Given the description of an element on the screen output the (x, y) to click on. 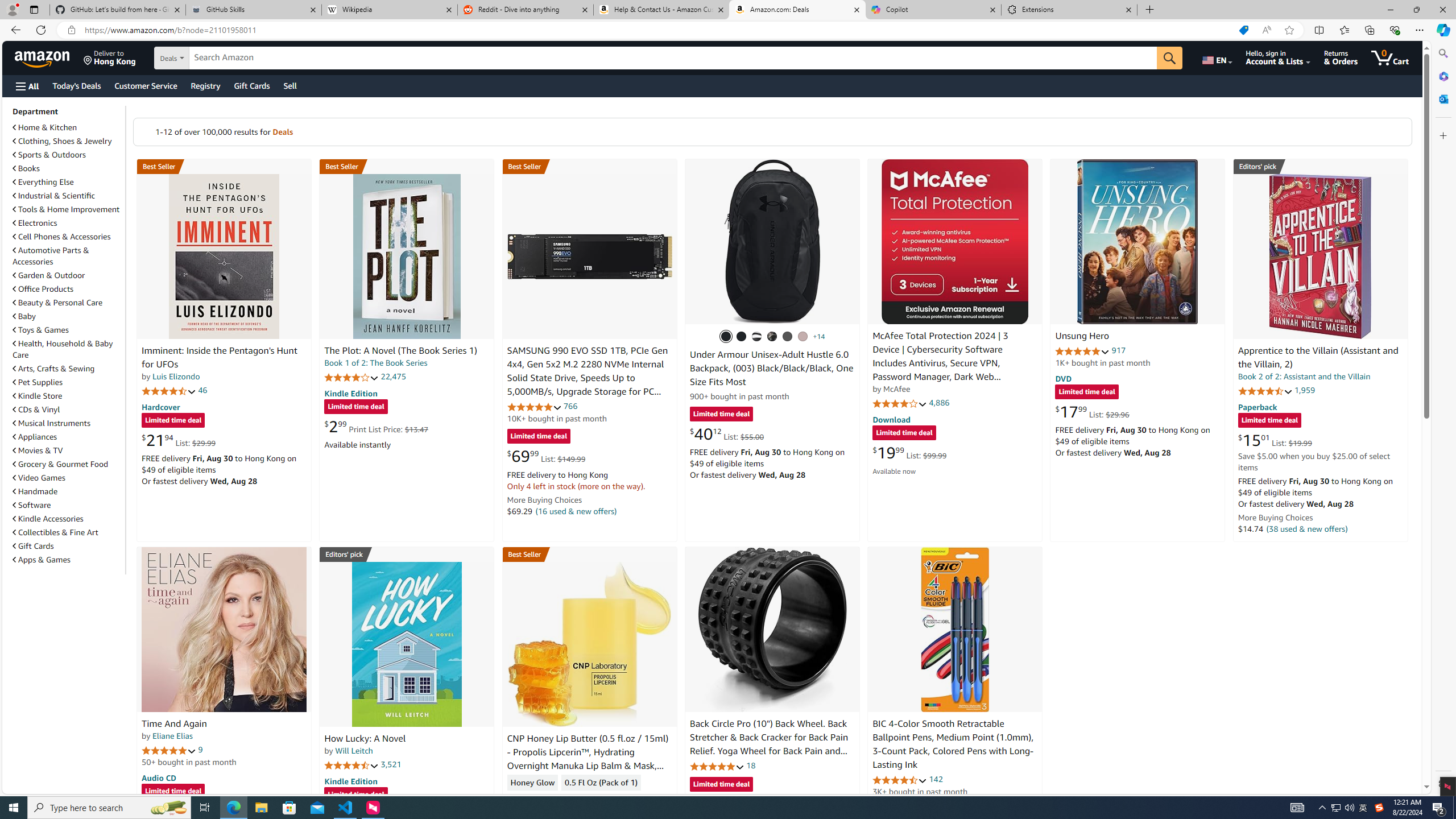
Cell Phones & Accessories (61, 236)
Customer Service (145, 85)
$2.99 Print List Price: $13.47 (376, 426)
Musical Instruments (51, 422)
$21.94 List: $29.99 (178, 439)
Book 1 of 2: The Book Series (376, 362)
Sports & Outdoors (67, 154)
Download (891, 419)
(005) Black Full Heather / Black / Metallic Gold (788, 336)
Industrial & Scientific (67, 195)
(38 used & new offers) (1307, 528)
